Given the description of an element on the screen output the (x, y) to click on. 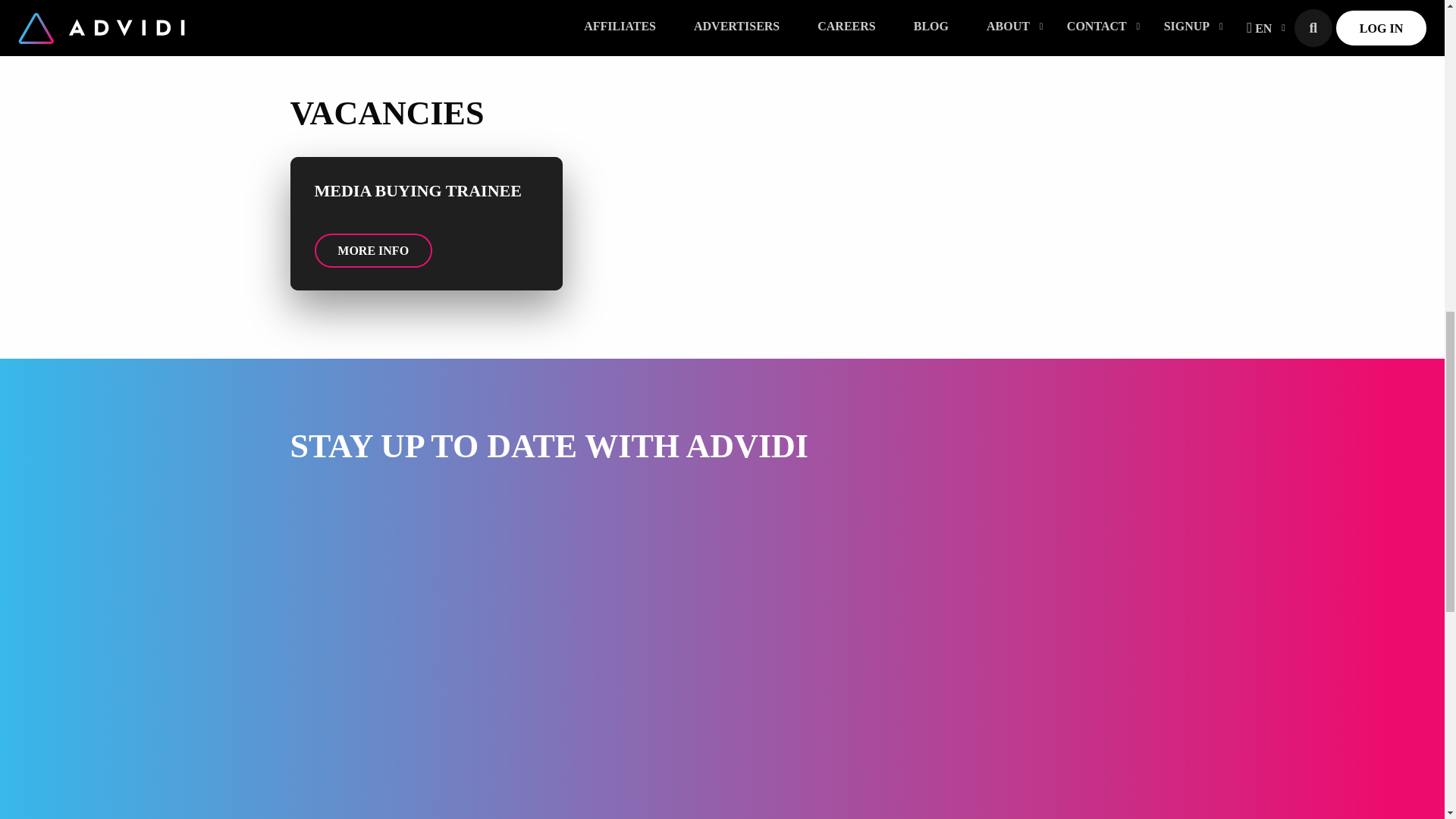
Go to vacancy (425, 223)
